Given the description of an element on the screen output the (x, y) to click on. 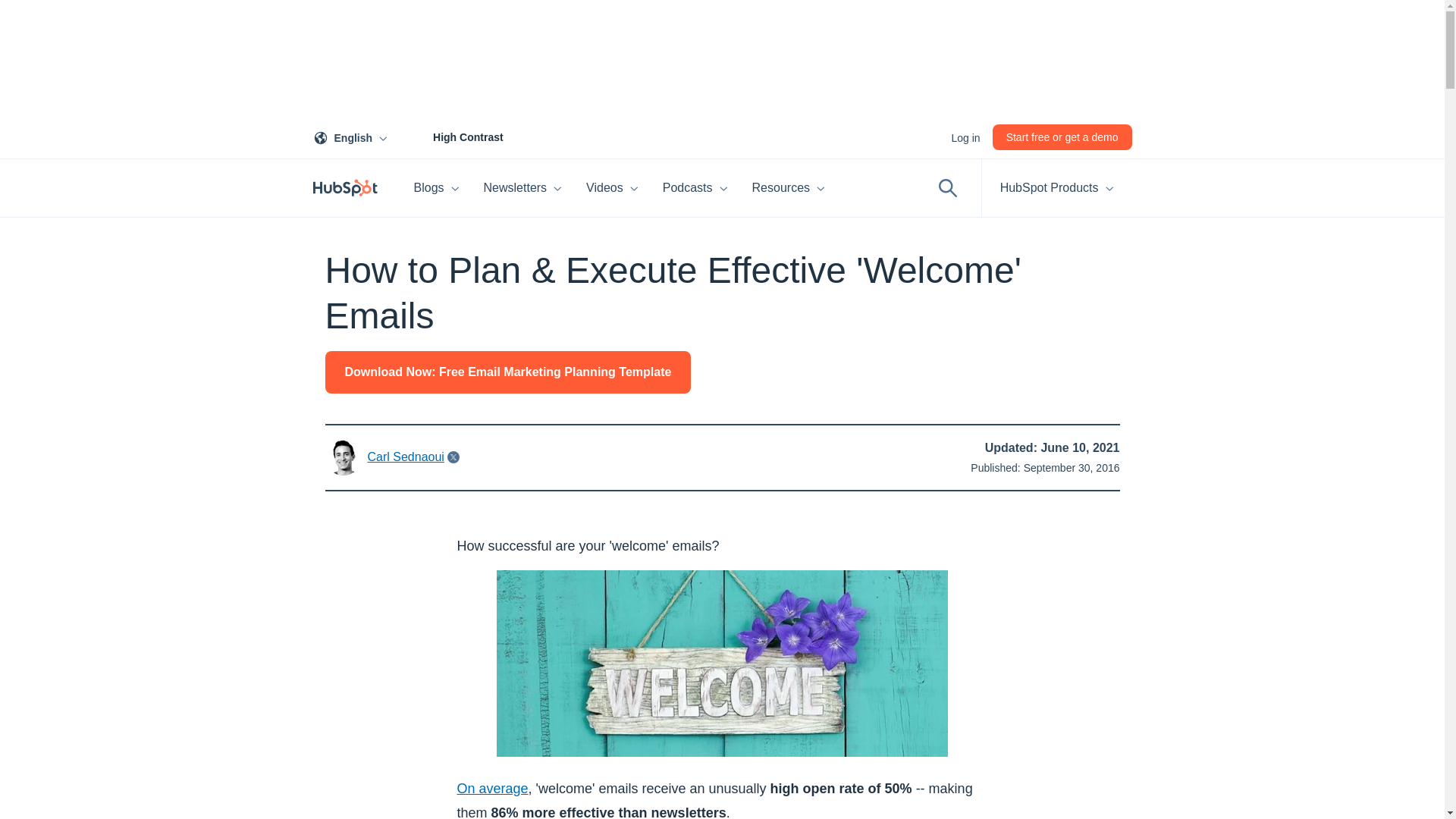
High Contrast (450, 137)
Newsletters (523, 187)
Blogs (436, 187)
Start free or get a demo (1062, 136)
Videos (353, 136)
Log in (611, 187)
